Given the description of an element on the screen output the (x, y) to click on. 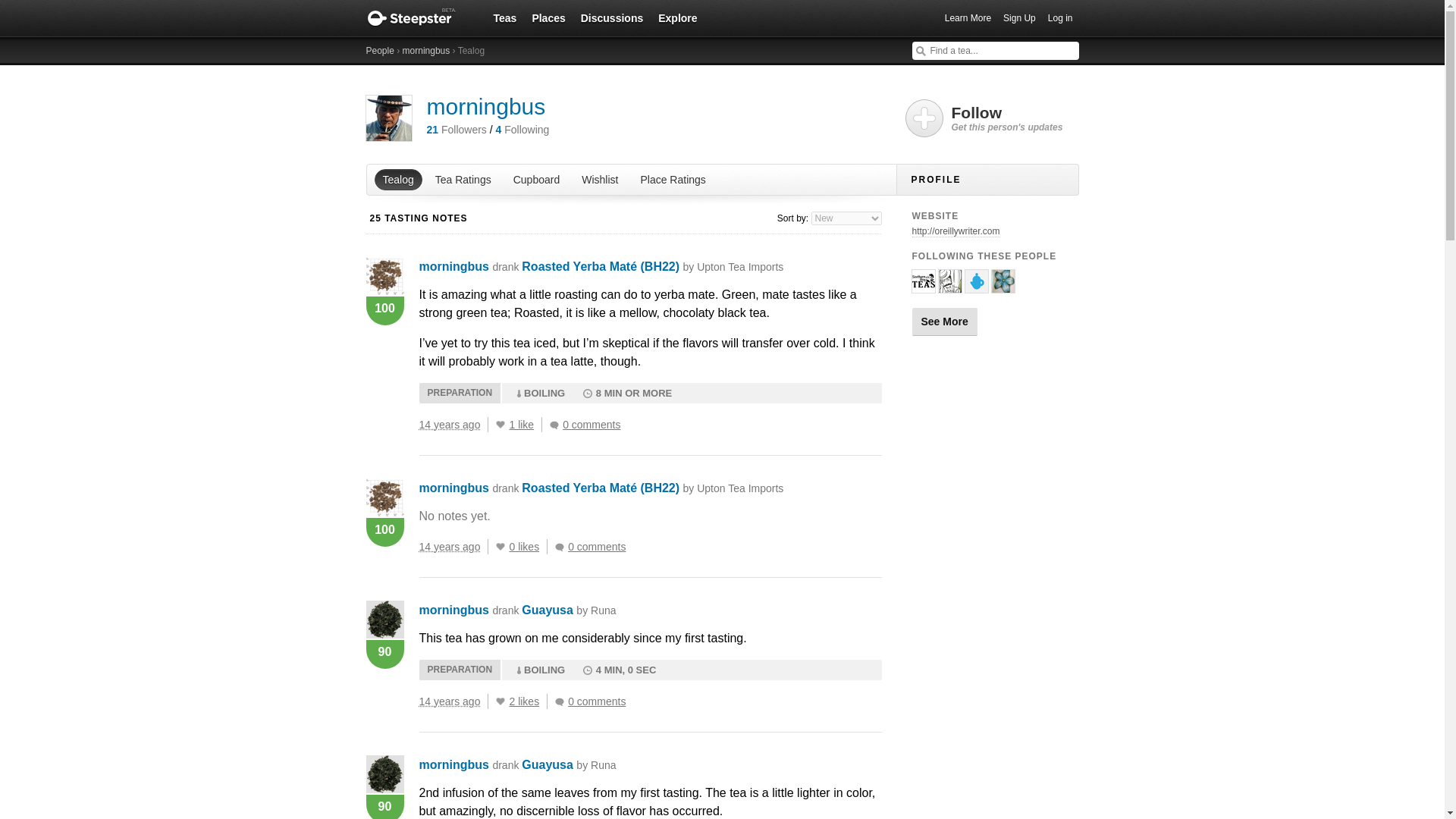
Places (547, 17)
Guayusa by Runa (568, 609)
Place Ratings (672, 179)
Like This (500, 546)
14 years ago (453, 546)
2010-05-24T14:41:34Z (449, 424)
Teas (504, 17)
Tealog (398, 179)
Discussions (612, 17)
morningbus (485, 106)
Like This (500, 701)
morningbus (453, 487)
Learn More (968, 18)
Steepster (418, 18)
People (379, 50)
